Given the description of an element on the screen output the (x, y) to click on. 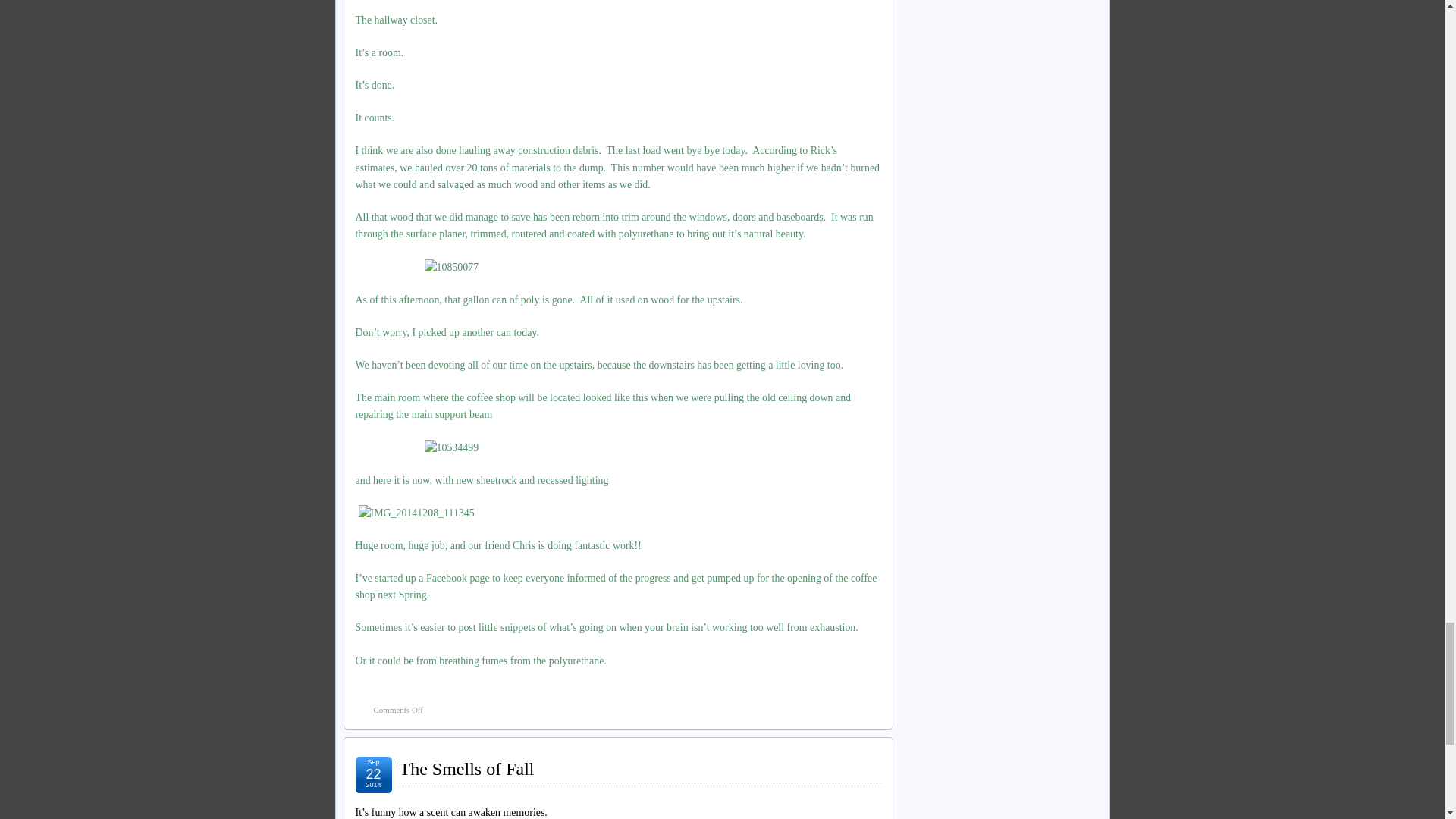
The Smells of Fall (466, 768)
